Given the description of an element on the screen output the (x, y) to click on. 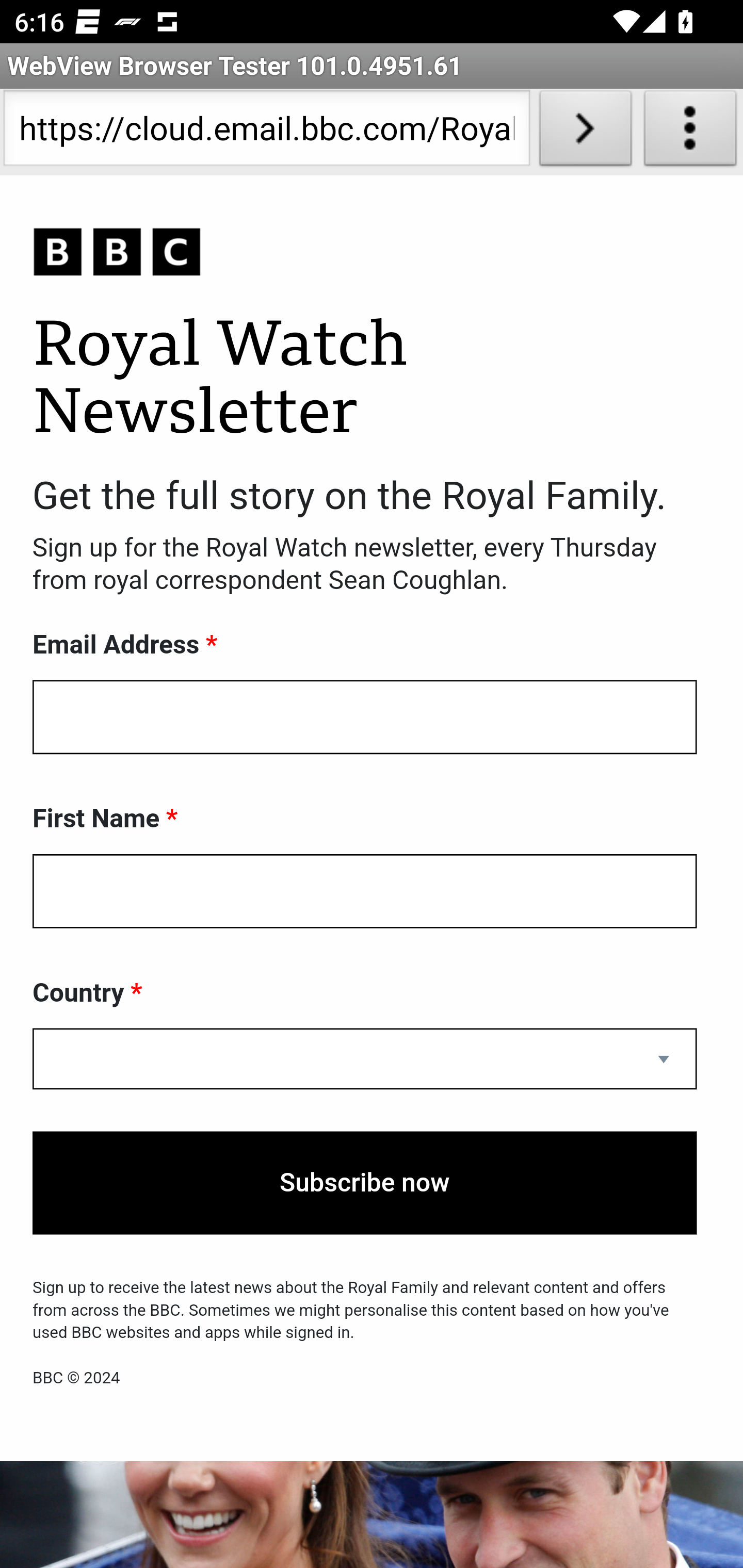
Load URL (585, 132)
About WebView (690, 132)
BBC (364, 253)
Subscribe now (364, 1182)
